Given the description of an element on the screen output the (x, y) to click on. 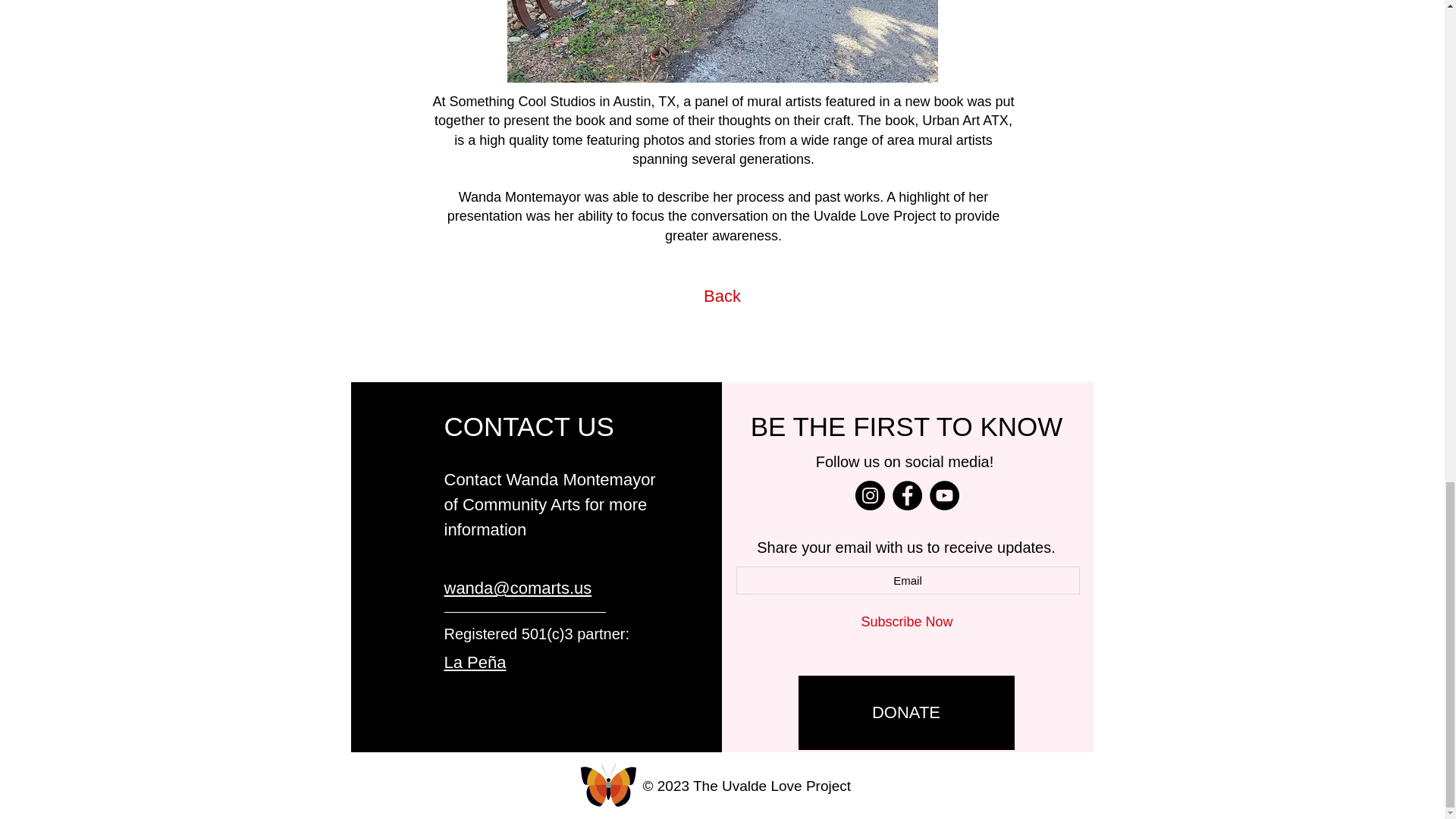
DONATE (905, 712)
Subscribe Now (906, 621)
Back (722, 296)
